Given the description of an element on the screen output the (x, y) to click on. 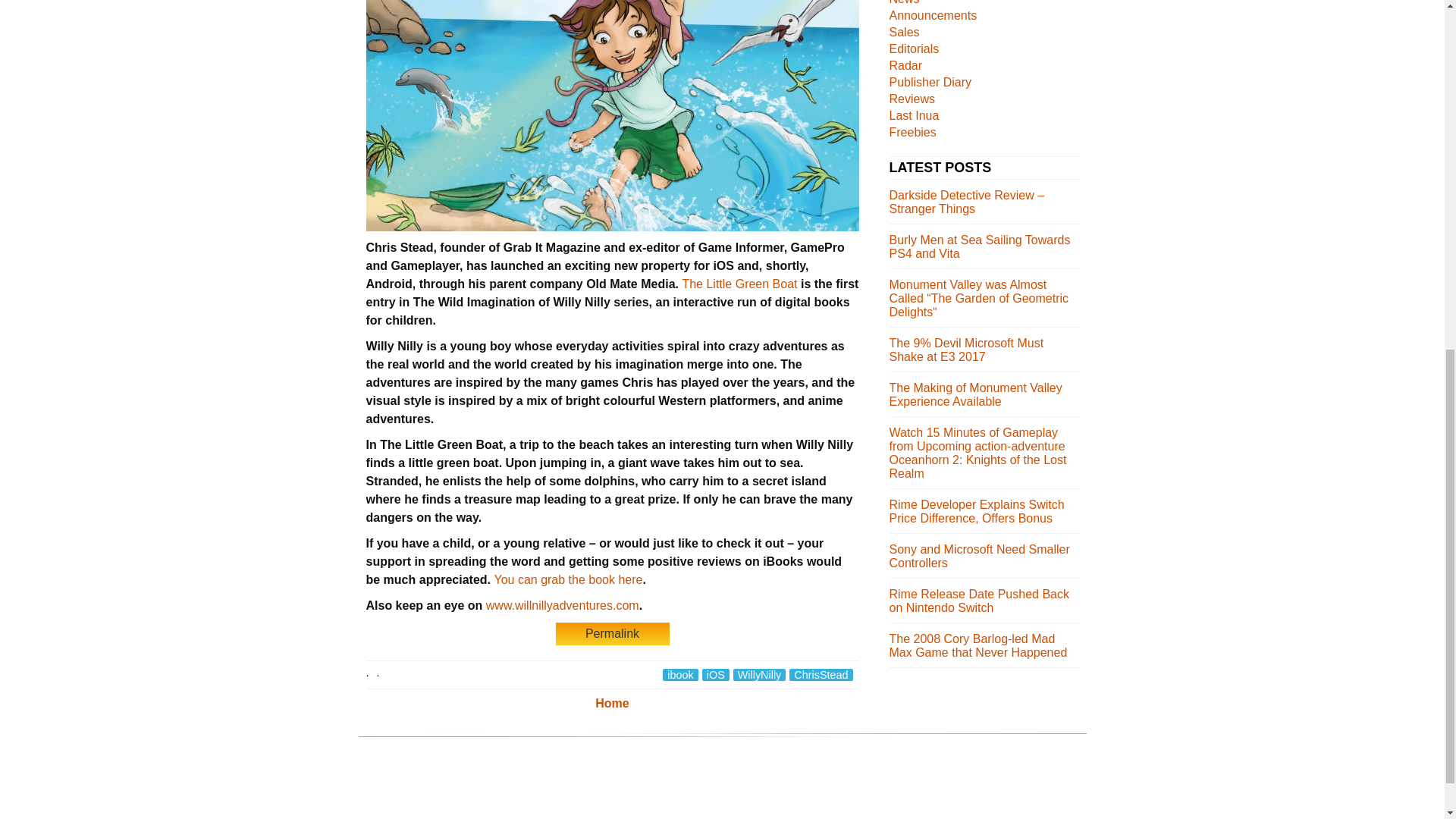
Permalink (611, 633)
ibook (679, 674)
You can grab the book here (567, 579)
www.willnillyadventures.com (562, 604)
iOS (715, 674)
ChrisStead (820, 674)
WillyNilly (759, 674)
Permalink (611, 633)
The Little Green Boat (738, 283)
